Given the description of an element on the screen output the (x, y) to click on. 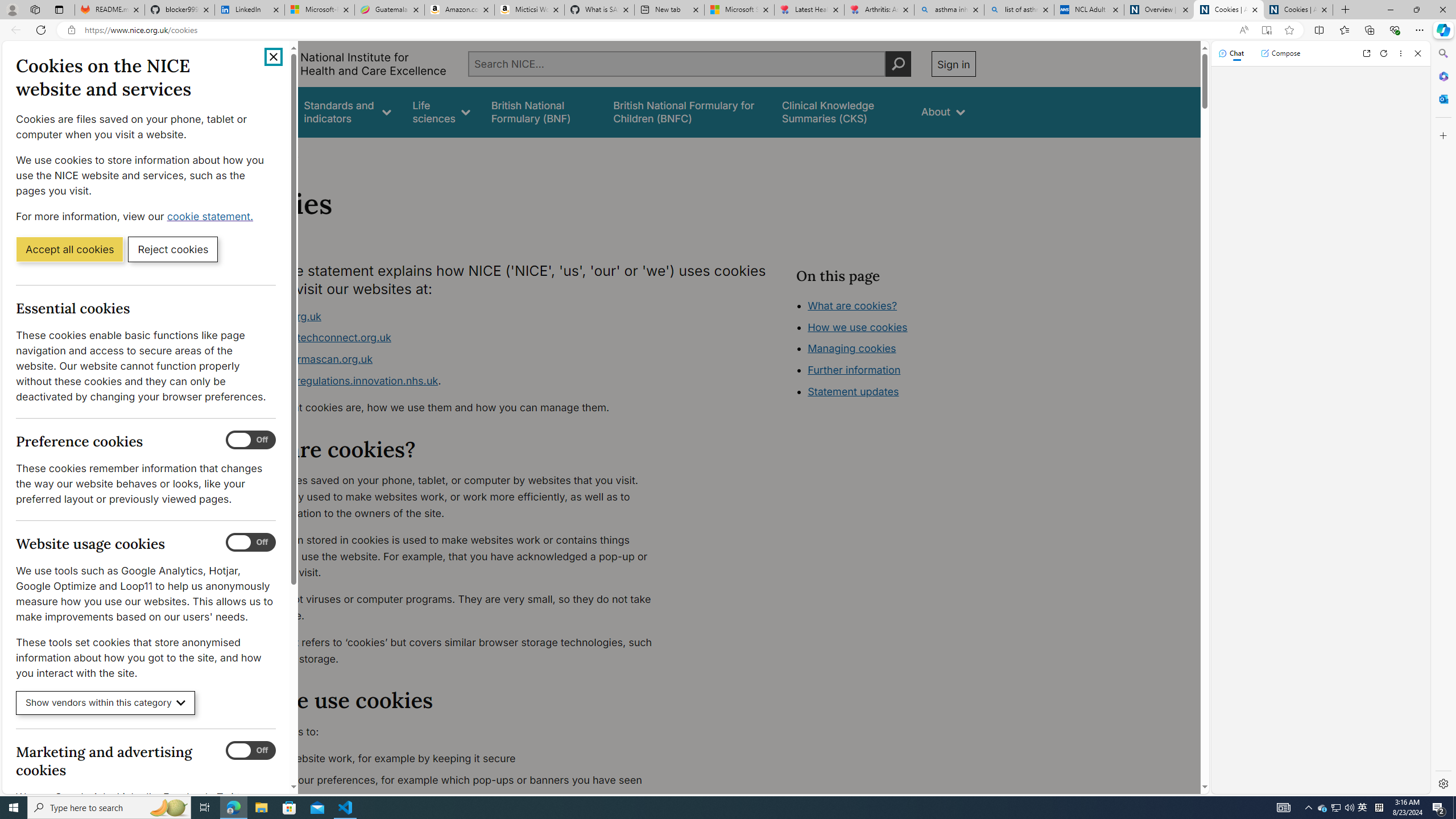
Life sciences (440, 111)
Statement updates (853, 391)
false (841, 111)
Arthritis: Ask Health Professionals (879, 9)
